Given the description of an element on the screen output the (x, y) to click on. 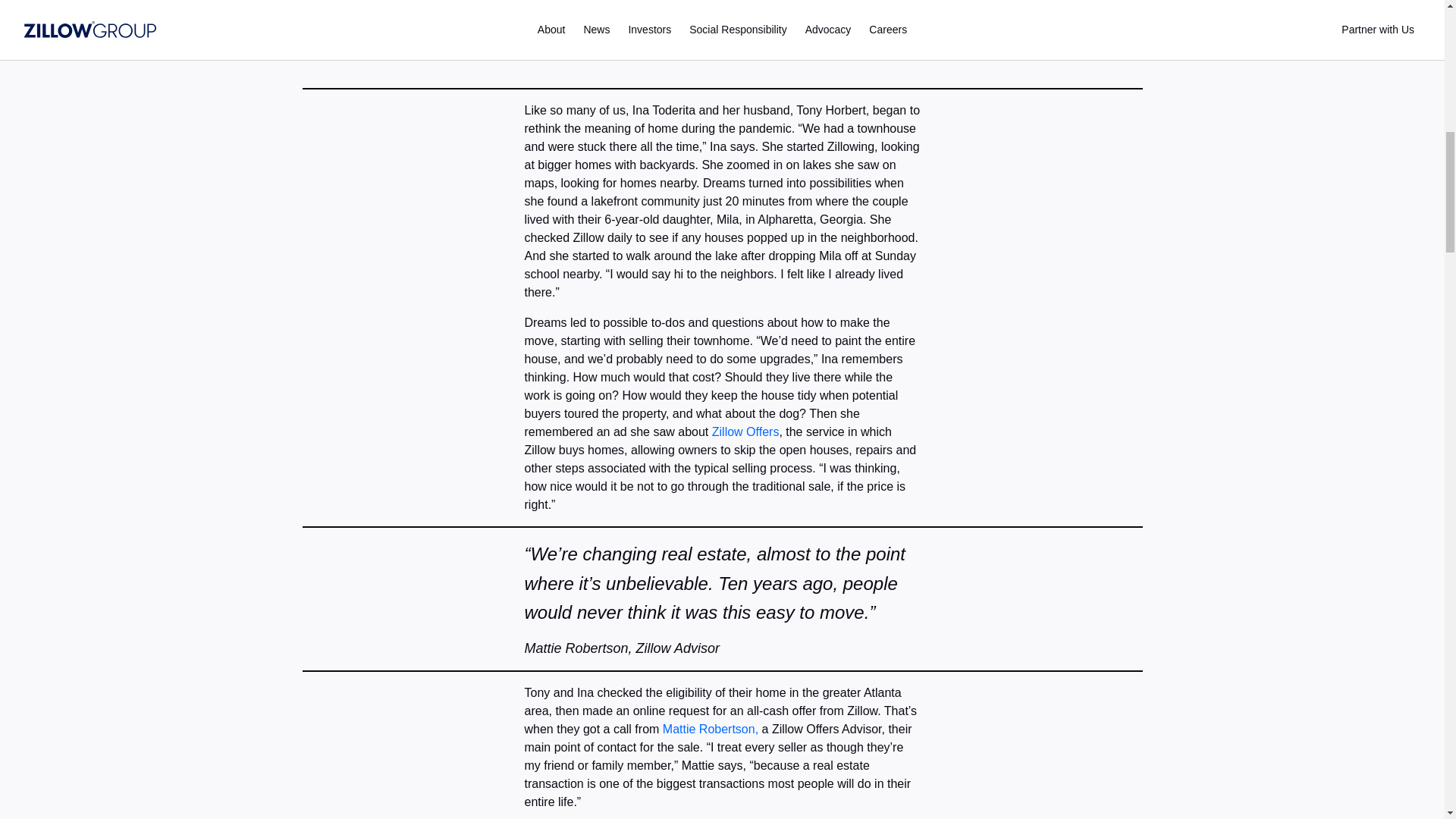
Zillow Offers (744, 431)
Mattie Robertson, (710, 728)
